Given the description of an element on the screen output the (x, y) to click on. 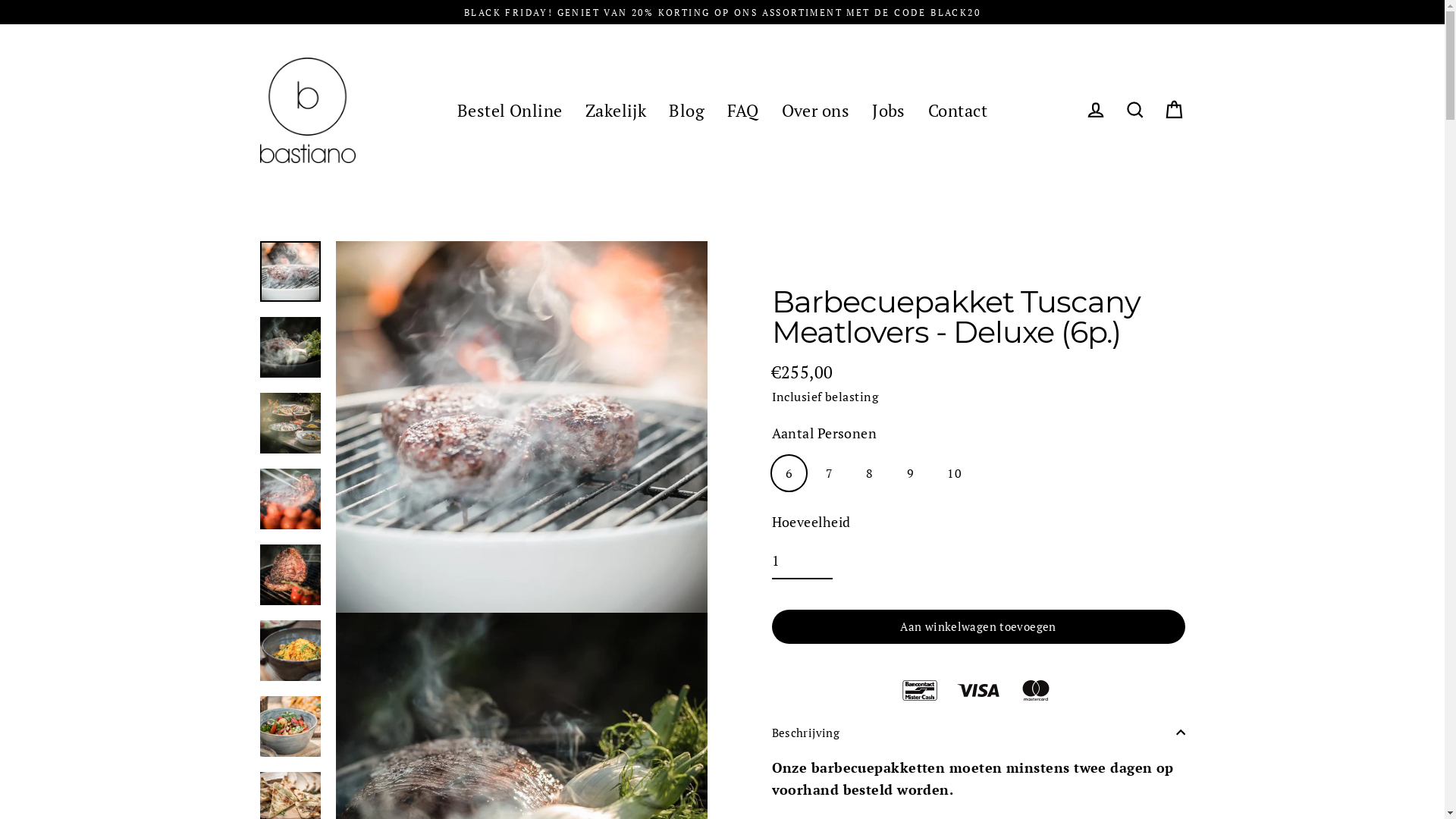
Aanmelden Element type: text (1094, 110)
Zoeken Element type: text (1134, 110)
Winkelwagen Element type: text (1173, 110)
Aan winkelwagen toevoegen Element type: text (978, 626)
Meteen naar de content Element type: text (0, 0)
Bestel Online Element type: text (509, 109)
Jobs Element type: text (888, 109)
Zakelijk Element type: text (616, 109)
Over ons Element type: text (815, 109)
Contact Element type: text (957, 109)
FAQ Element type: text (742, 109)
Beschrijving Element type: text (978, 732)
Blog Element type: text (686, 109)
